Given the description of an element on the screen output the (x, y) to click on. 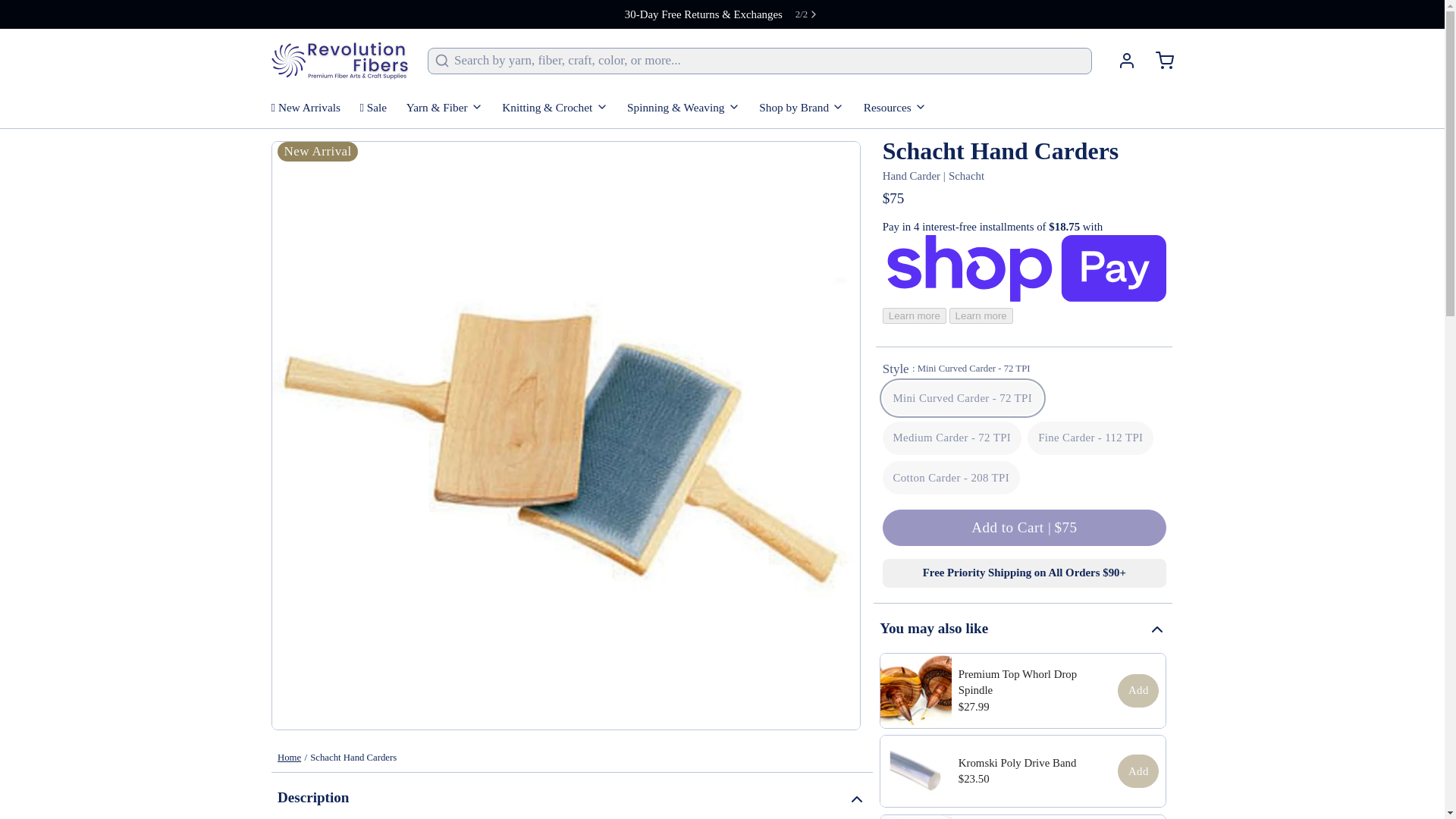
Home (289, 757)
Next slide (806, 14)
Cart (1157, 60)
 Log in (1120, 60)
Revolution Fibers (339, 60)
